Given the description of an element on the screen output the (x, y) to click on. 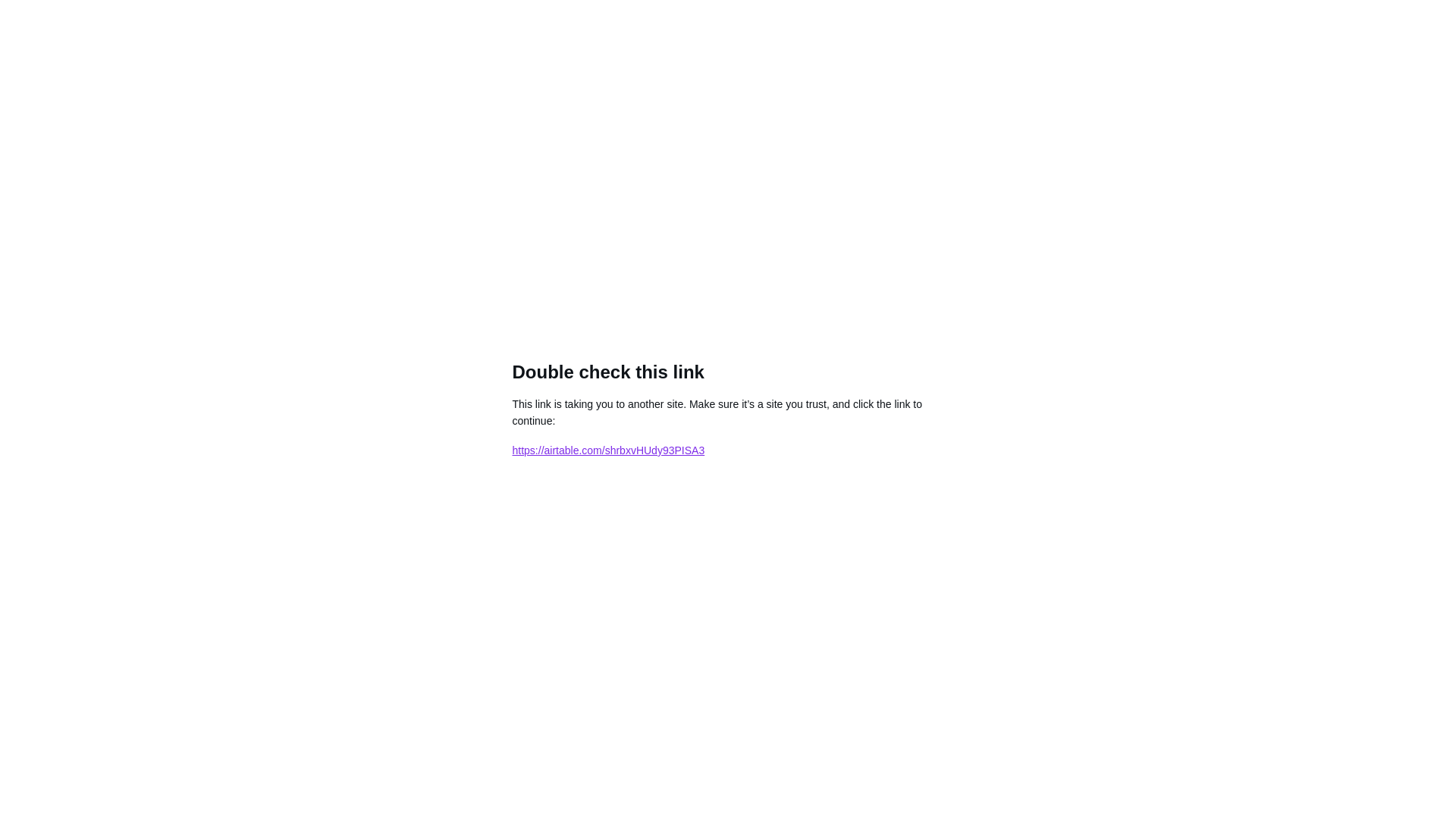
https://airtable.com/shrbxvHUdy93PISA3 Element type: text (608, 450)
